Given the description of an element on the screen output the (x, y) to click on. 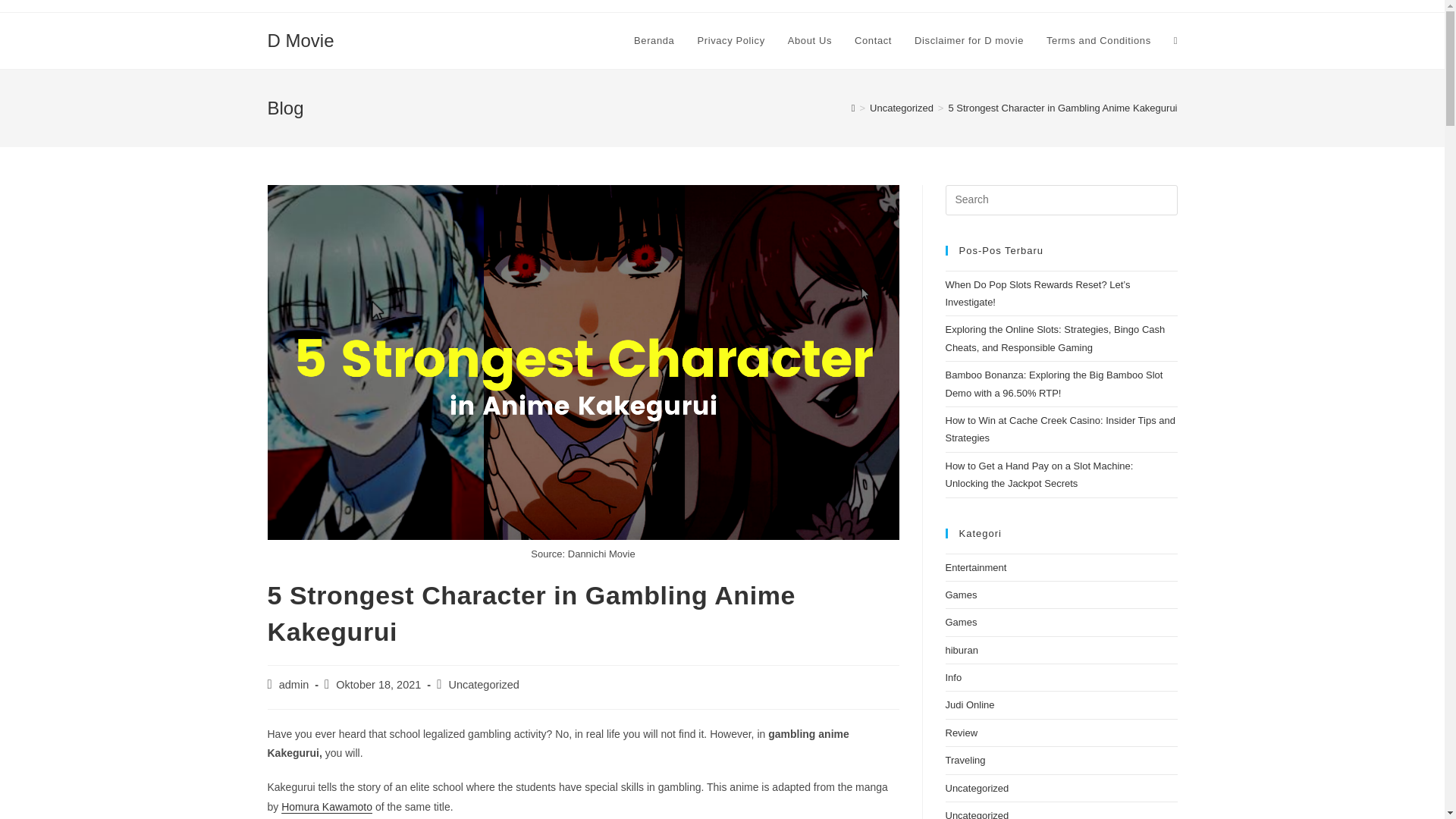
About Us (809, 40)
5 Strongest Character in Gambling Anime Kakegurui (1061, 107)
admin (293, 684)
Privacy Policy (730, 40)
Terms and Conditions (1098, 40)
Uncategorized (901, 107)
Disclaimer for D movie (968, 40)
D Movie (299, 40)
Pos-pos oleh admin (293, 684)
